Given the description of an element on the screen output the (x, y) to click on. 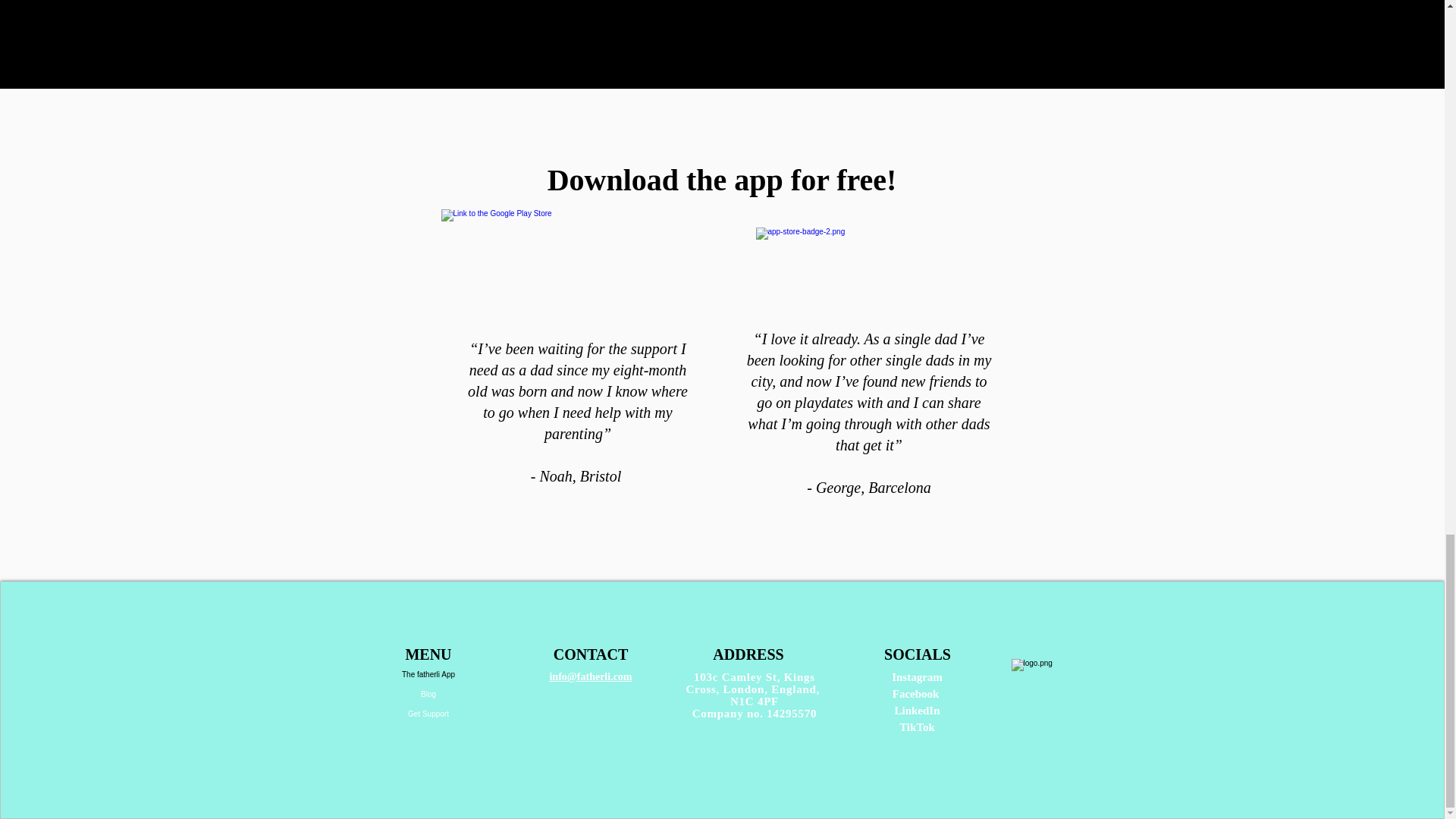
Facebook  (917, 693)
103c Camley St, Kings Cross (750, 682)
Blog (427, 694)
The fatherli App (427, 674)
London (744, 689)
Instagram (916, 676)
TikTok (916, 727)
LinkedIn (916, 710)
Googleplay.png (578, 262)
